Given the description of an element on the screen output the (x, y) to click on. 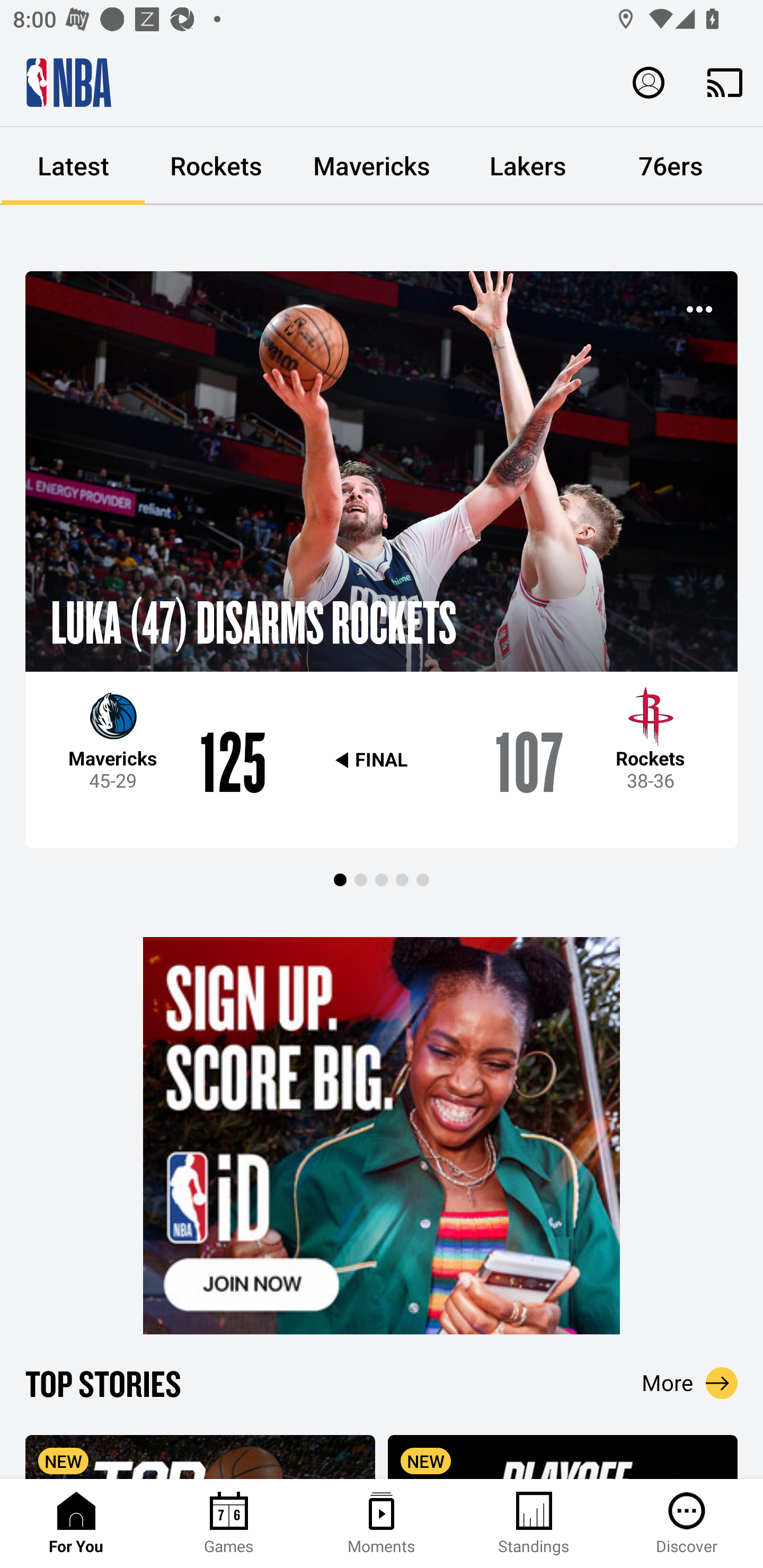
Cast. Disconnected (724, 82)
Profile (648, 81)
Rockets (215, 166)
Mavericks (371, 166)
Lakers (527, 166)
76ers (670, 166)
More (689, 1382)
Games (228, 1523)
Moments (381, 1523)
Standings (533, 1523)
Discover (686, 1523)
